Given the description of an element on the screen output the (x, y) to click on. 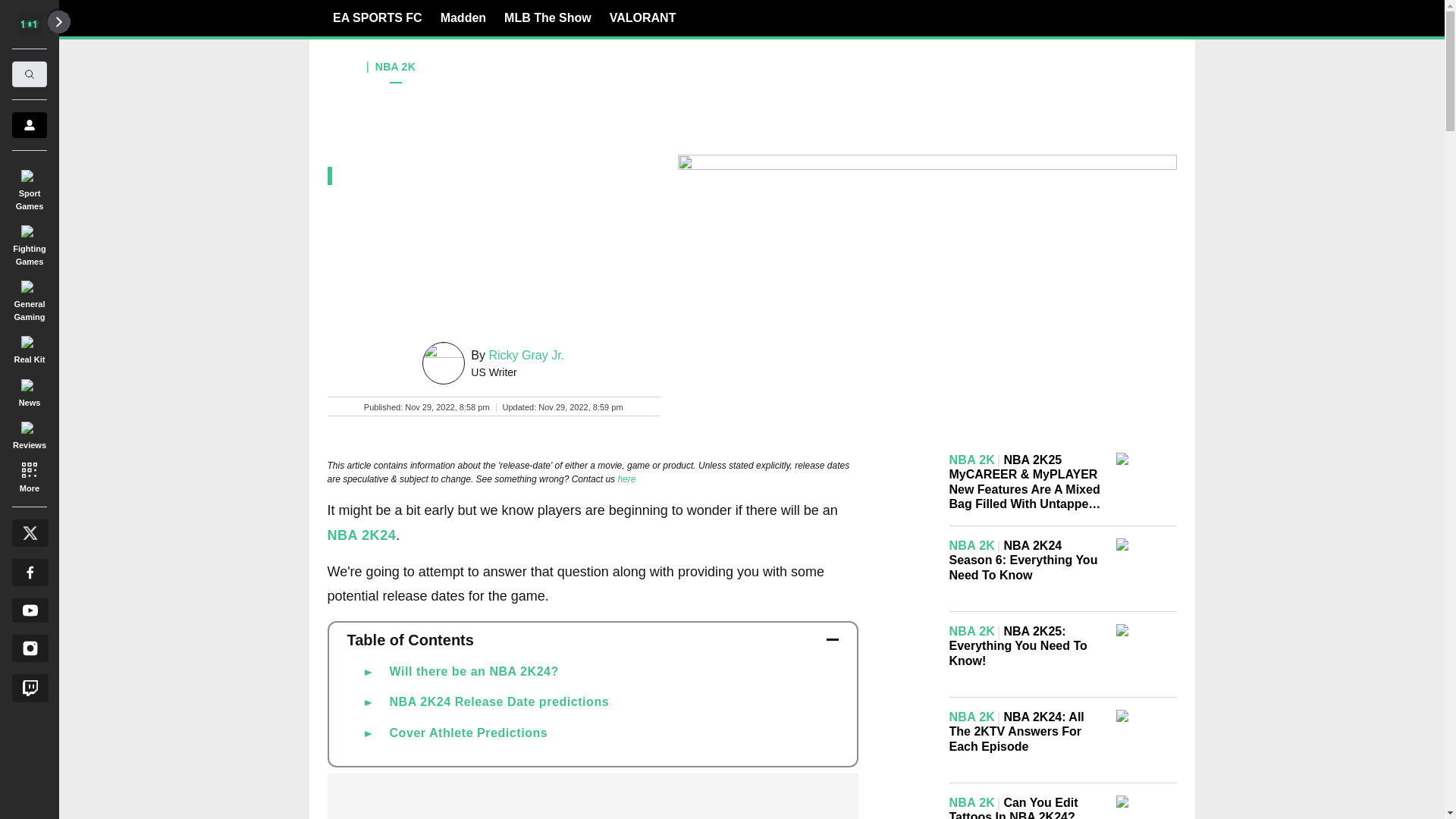
MLB The Show (547, 18)
VALORANT (643, 18)
More (28, 476)
News (28, 389)
Real Kit (28, 347)
Madden (463, 18)
EA SPORTS FC (377, 18)
Reviews (28, 433)
